Given the description of an element on the screen output the (x, y) to click on. 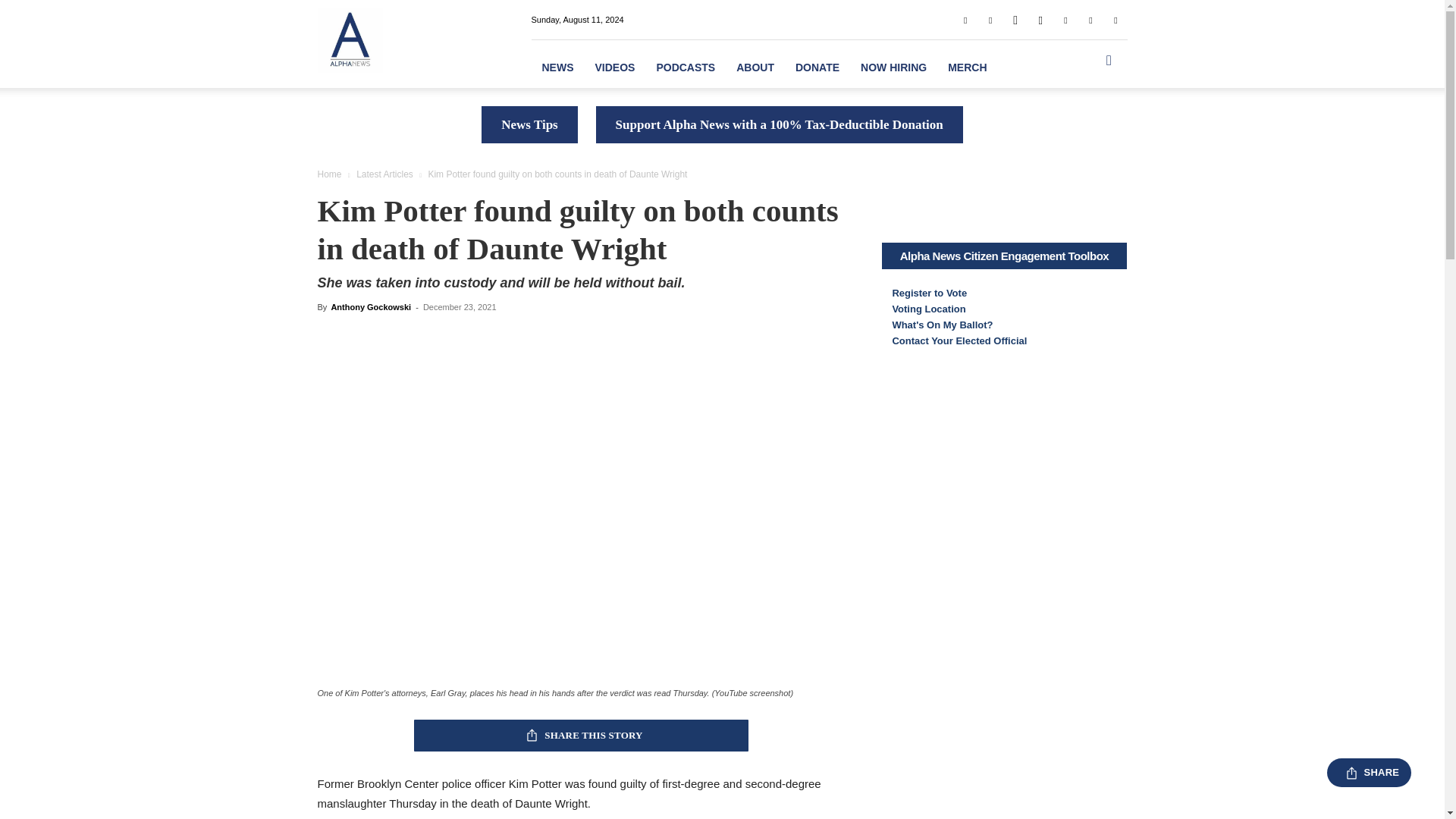
Facebook (964, 19)
Twitter (1090, 19)
GETTR (1015, 19)
Telegram (1065, 19)
Instagram (1040, 19)
Gab (989, 19)
Alpha News (349, 39)
Youtube (1114, 19)
NEWS (557, 67)
